Given the description of an element on the screen output the (x, y) to click on. 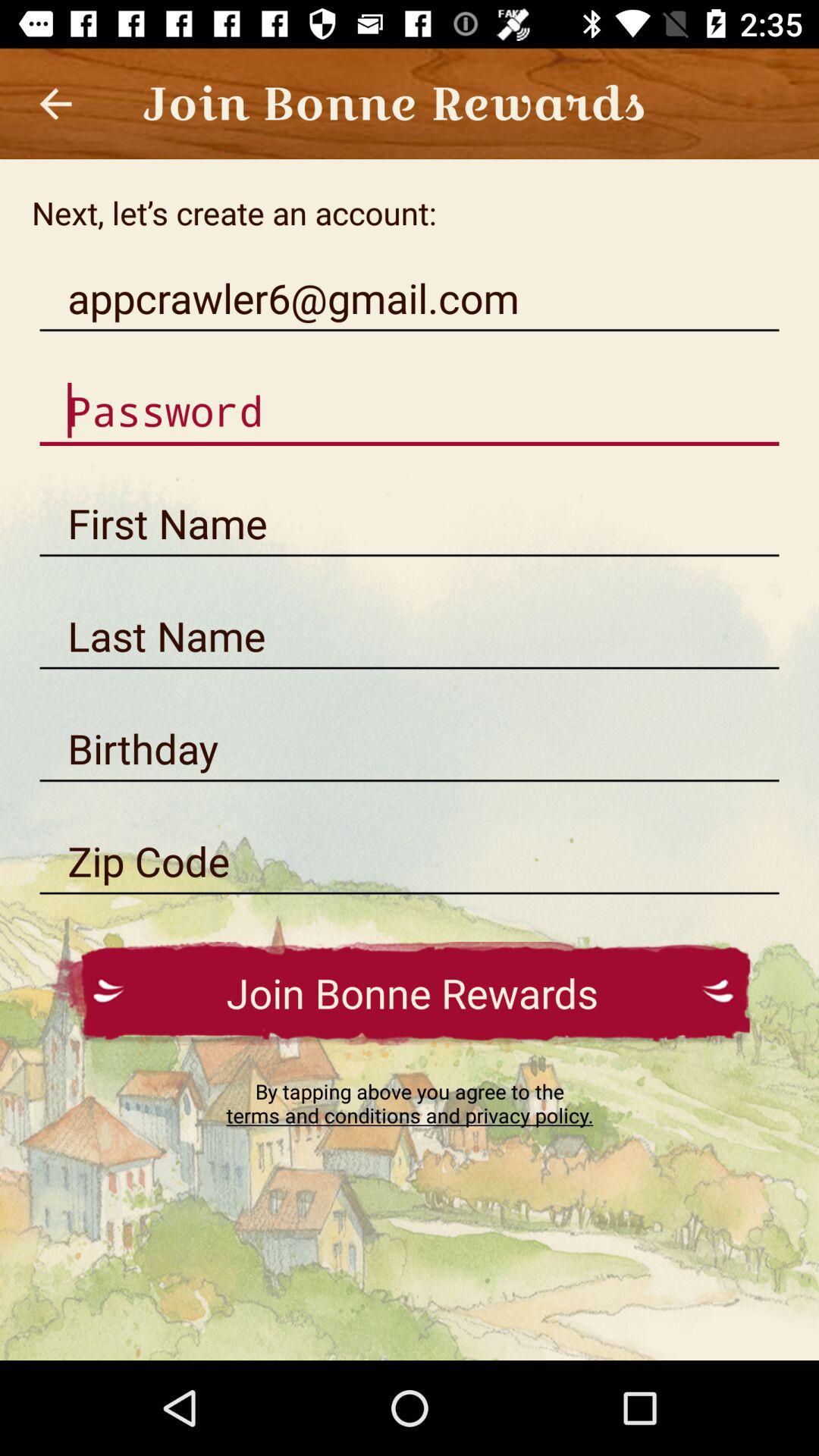
enter last name (409, 636)
